Given the description of an element on the screen output the (x, y) to click on. 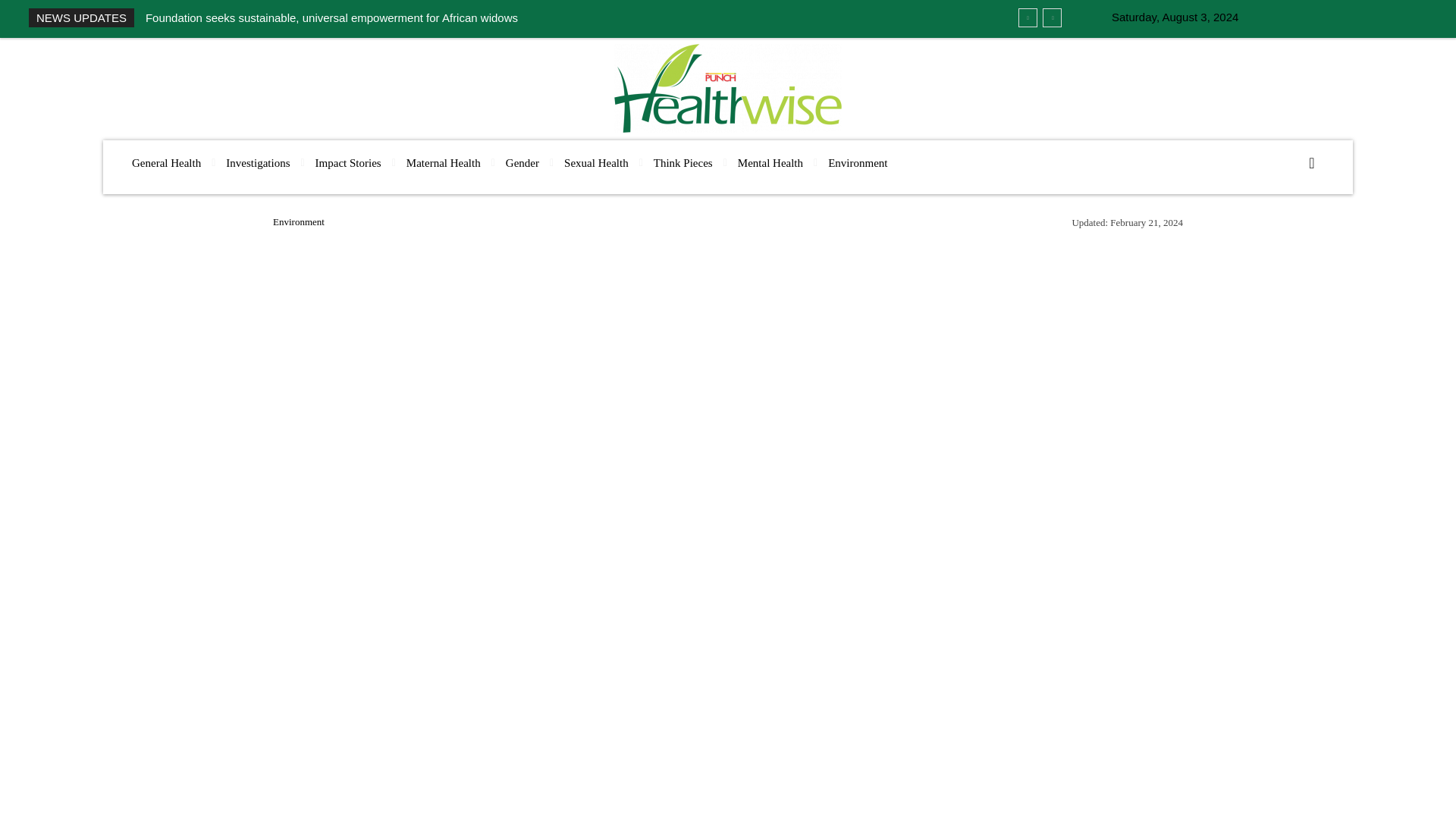
Investigations (257, 163)
General Health (165, 163)
